Given the description of an element on the screen output the (x, y) to click on. 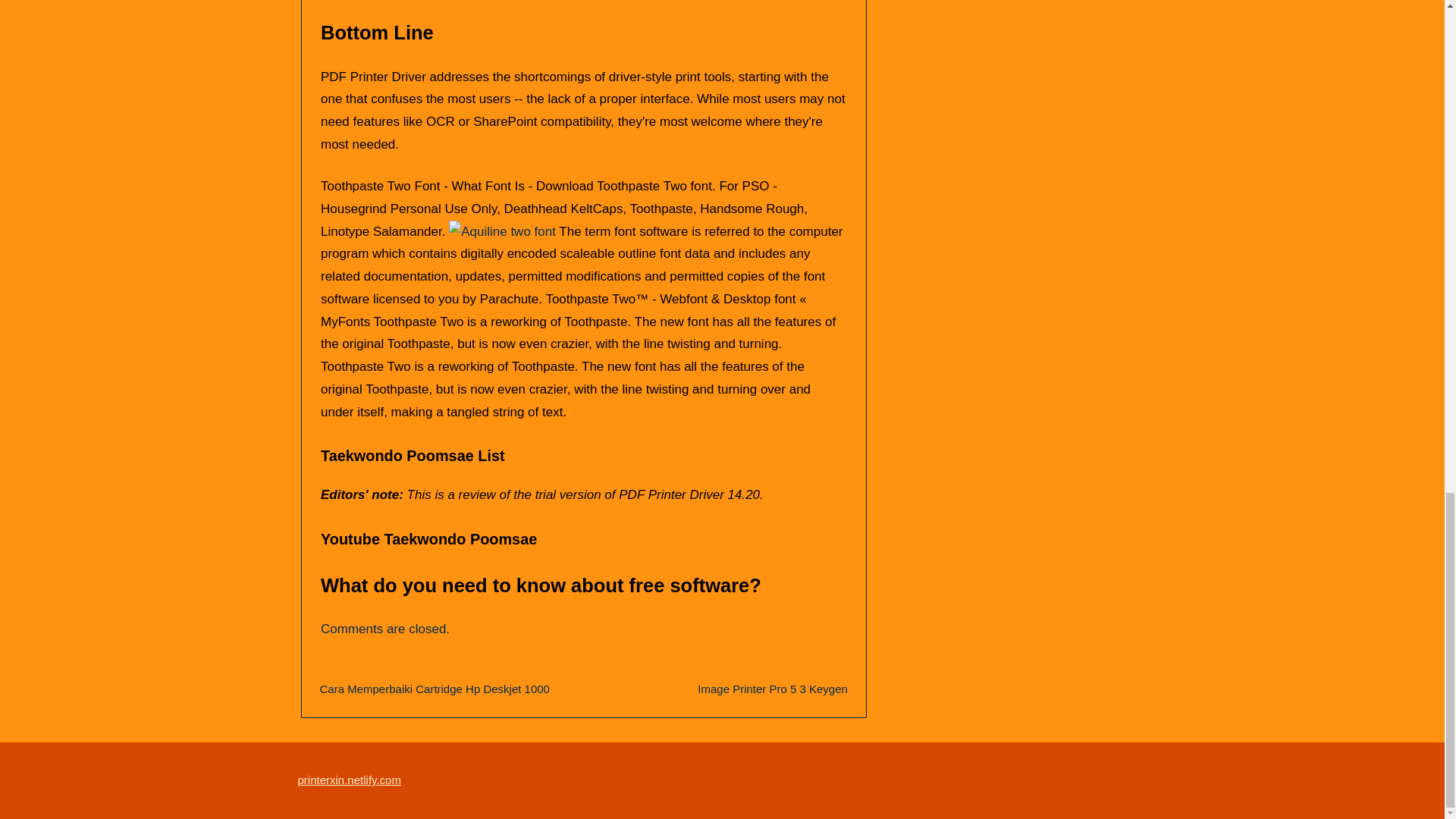
printerxin.netlify.com (348, 779)
Image Printer Pro 5 3 Keygen (772, 688)
Cara Memperbaiki Cartridge Hp Deskjet 1000 (435, 688)
Aquiline two font (502, 231)
printerxin.netlify.com (348, 779)
Comments are closed. (384, 628)
